Given the description of an element on the screen output the (x, y) to click on. 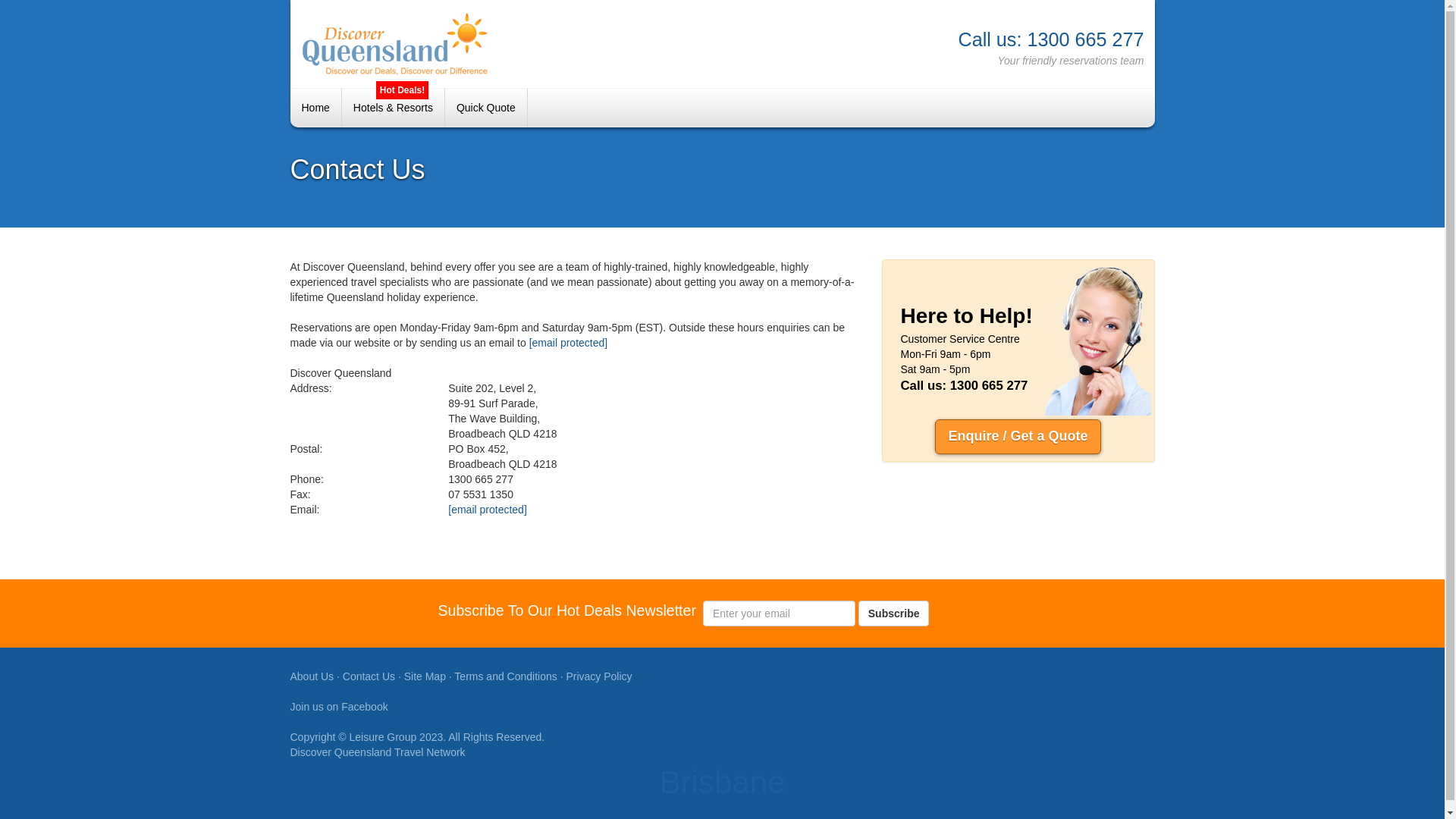
Leisure Group Element type: text (383, 737)
About Us Element type: text (311, 676)
Call us: 1300 665 277 Element type: text (939, 31)
[email protected] Element type: text (568, 342)
Enquire / Get a Quote Element type: text (1017, 436)
Home Element type: text (315, 107)
Quick Quote Element type: text (486, 107)
Subscribe Element type: text (893, 613)
Join us on Facebook Element type: text (338, 706)
Privacy Policy Element type: text (598, 676)
Terms and Conditions Element type: text (505, 676)
[email protected] Element type: text (487, 509)
Site Map Element type: text (424, 676)
Contact Us Element type: text (368, 676)
Brisbane Element type: hover (505, 43)
Hot Deals!
Hotels & Resorts Element type: text (393, 107)
